Given the description of an element on the screen output the (x, y) to click on. 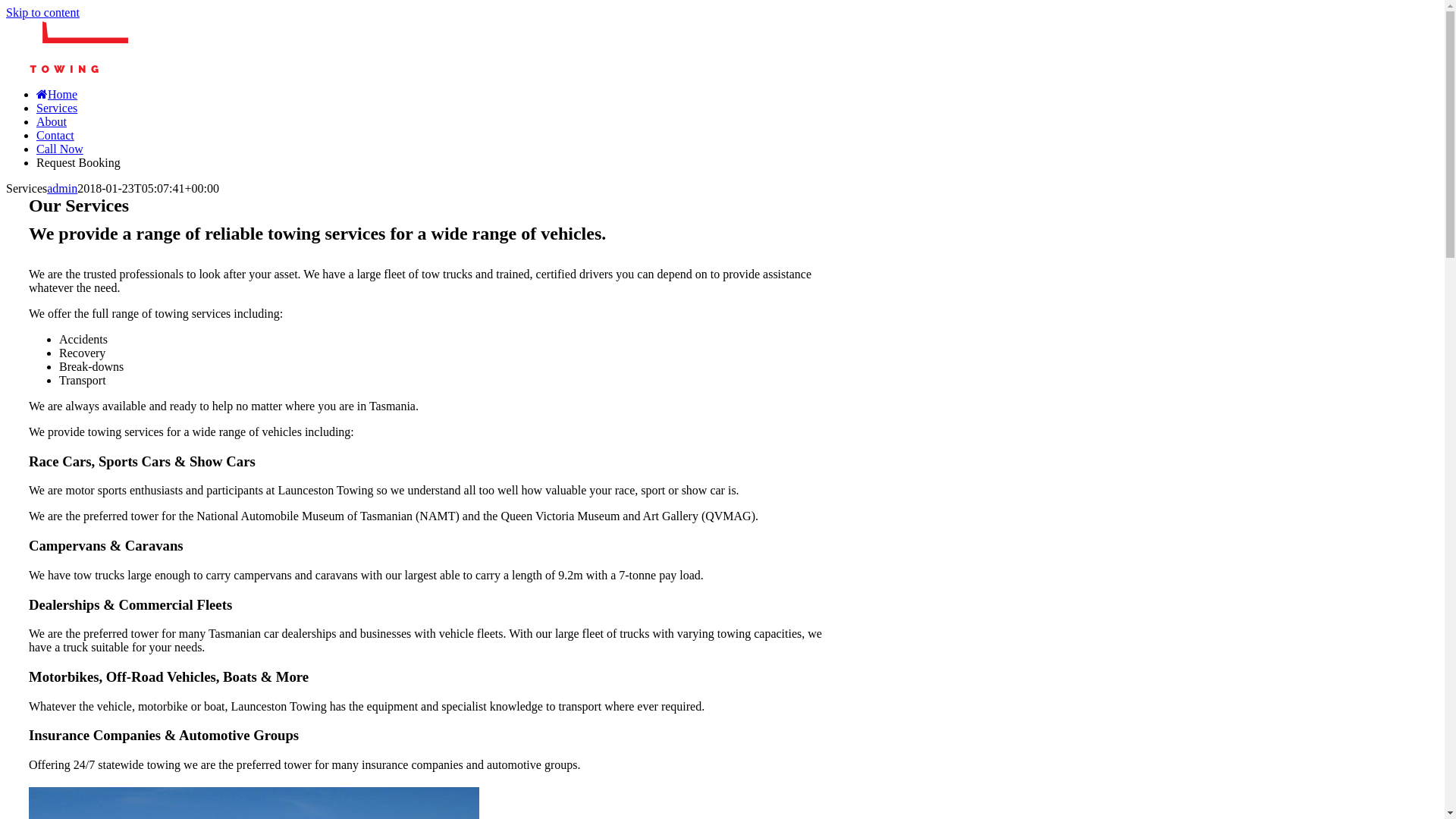
Contact Element type: text (55, 134)
Services Element type: text (56, 107)
About Element type: text (51, 121)
Call Now Element type: text (59, 148)
Request Booking Element type: text (78, 162)
admin Element type: text (62, 188)
Skip to content Element type: text (42, 12)
Home Element type: text (56, 93)
